Given the description of an element on the screen output the (x, y) to click on. 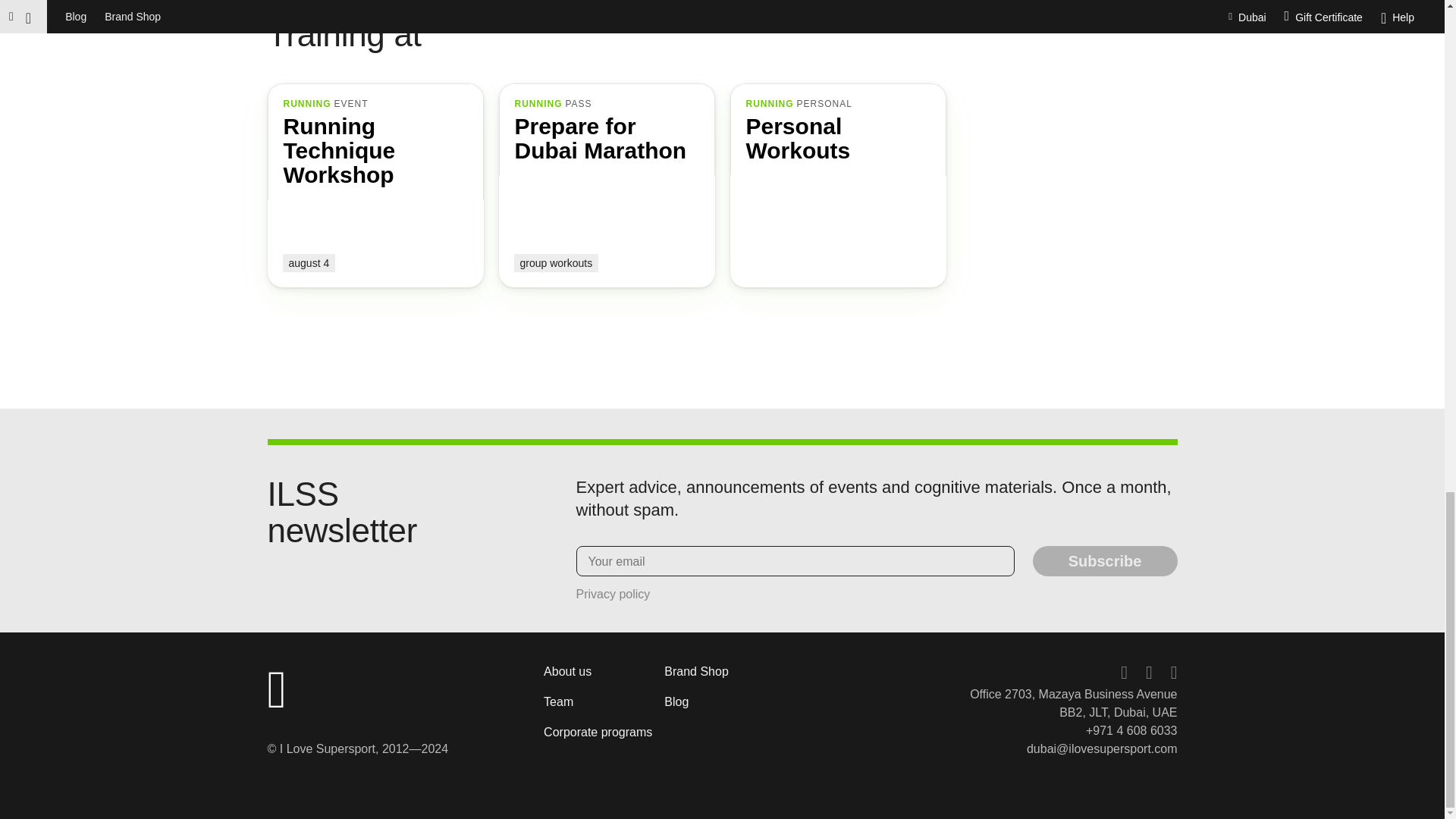
Brand Shop (696, 671)
Subscribe (1104, 560)
Corporate programs (836, 184)
Team (597, 731)
Blog (558, 701)
Privacy policy (675, 701)
About us (613, 594)
